Given the description of an element on the screen output the (x, y) to click on. 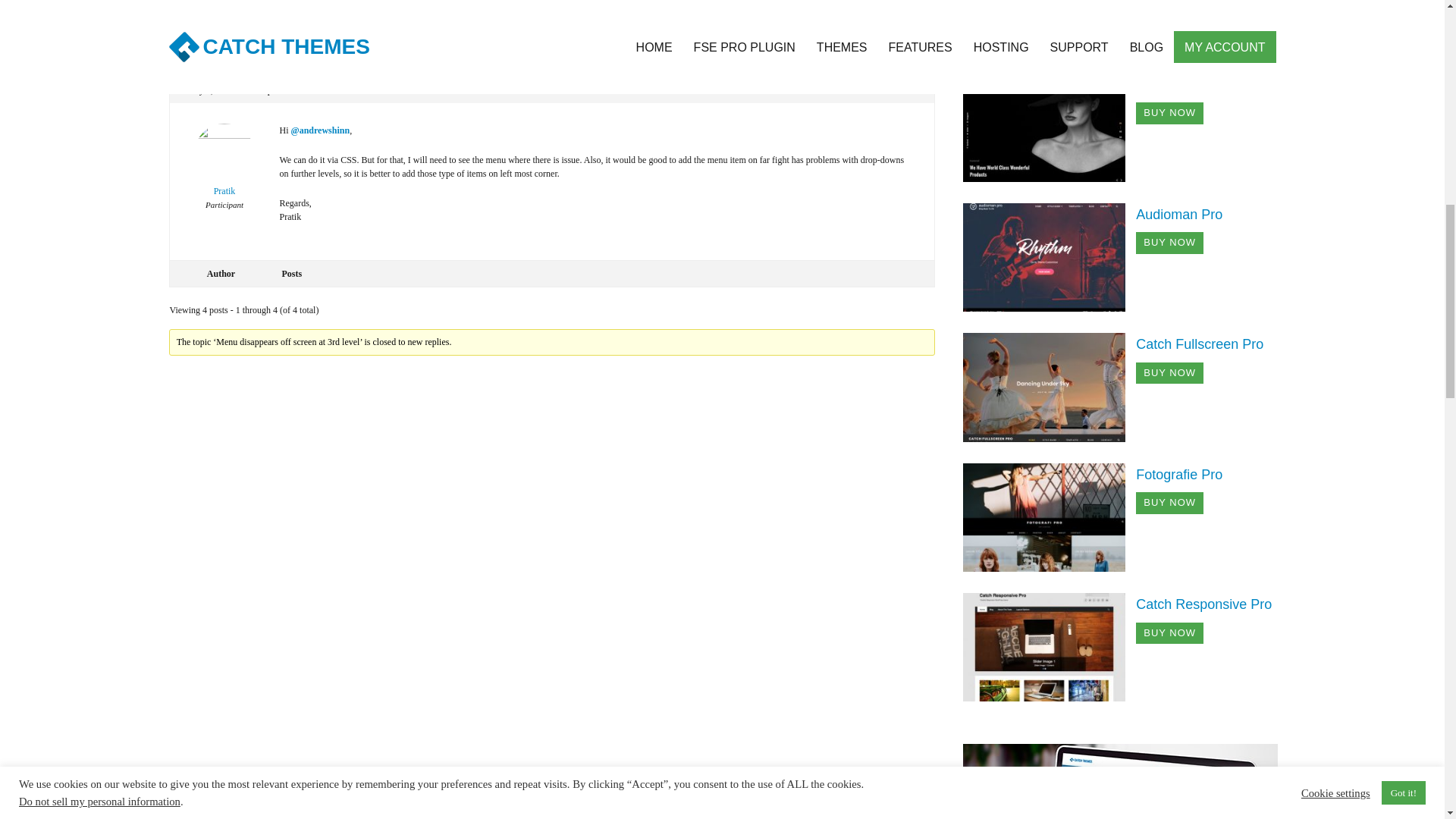
Catch Fullscreen Pro (1048, 386)
andrewshinn (223, 21)
Bold Photography Pro (1048, 125)
View andrewshinn's profile (223, 21)
Fotografie Pro (1048, 516)
Pratik (223, 170)
View Pratik's profile (223, 170)
Fotografie Pro (1179, 474)
Catch Responsive Pro (1048, 645)
Audioman Pro (1179, 214)
BUY NOW (1169, 113)
Catch Fullscreen Pro (1199, 344)
Bold Photography Pro (1202, 83)
BizBoost Pro (1048, 1)
Bold Photography Pro (1202, 83)
